Given the description of an element on the screen output the (x, y) to click on. 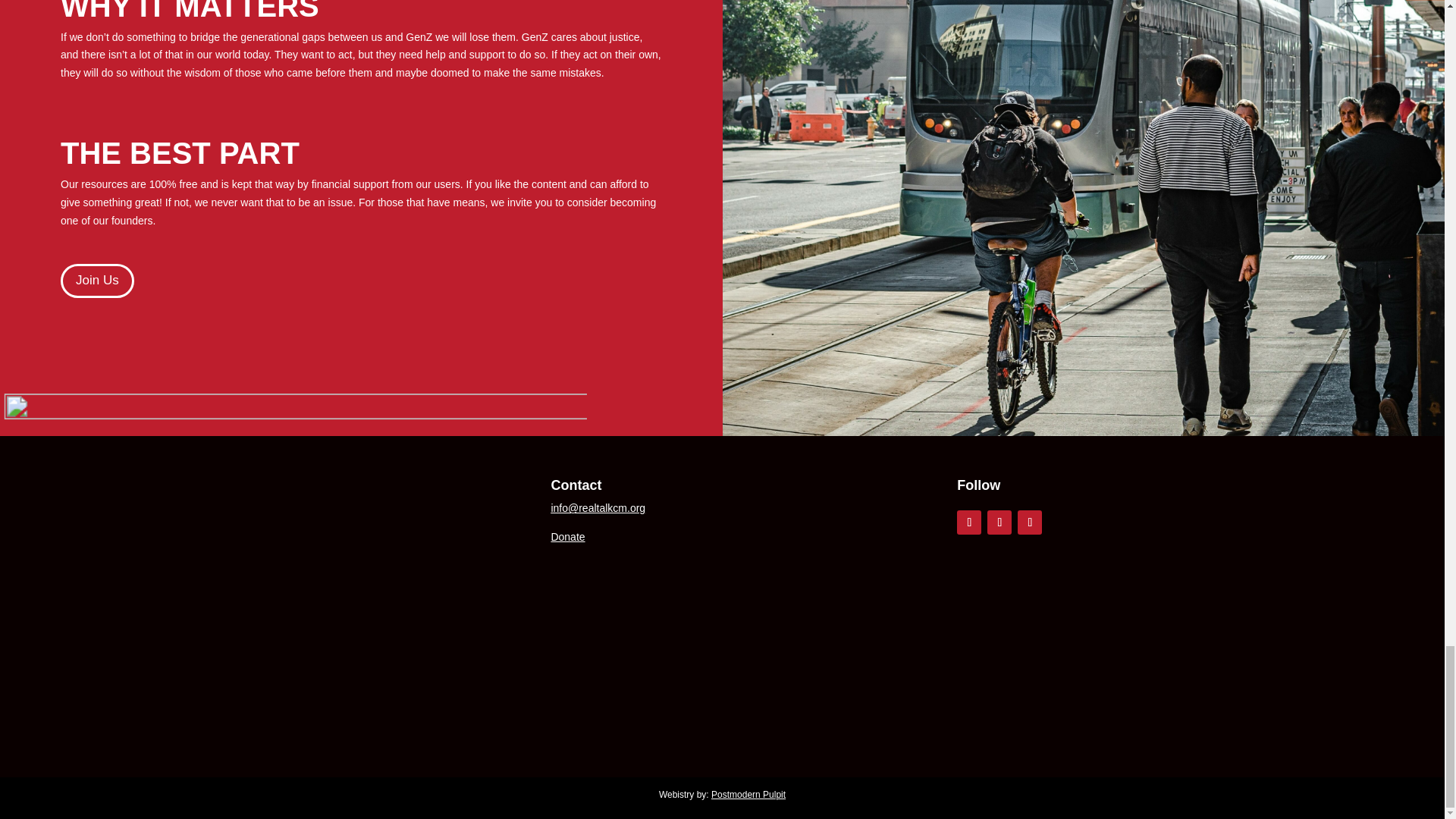
Follow on X (999, 522)
Postmodern Pulpit (748, 794)
Follow on Facebook (968, 522)
Follow on Spotify (1029, 522)
Join Us (97, 280)
